Given the description of an element on the screen output the (x, y) to click on. 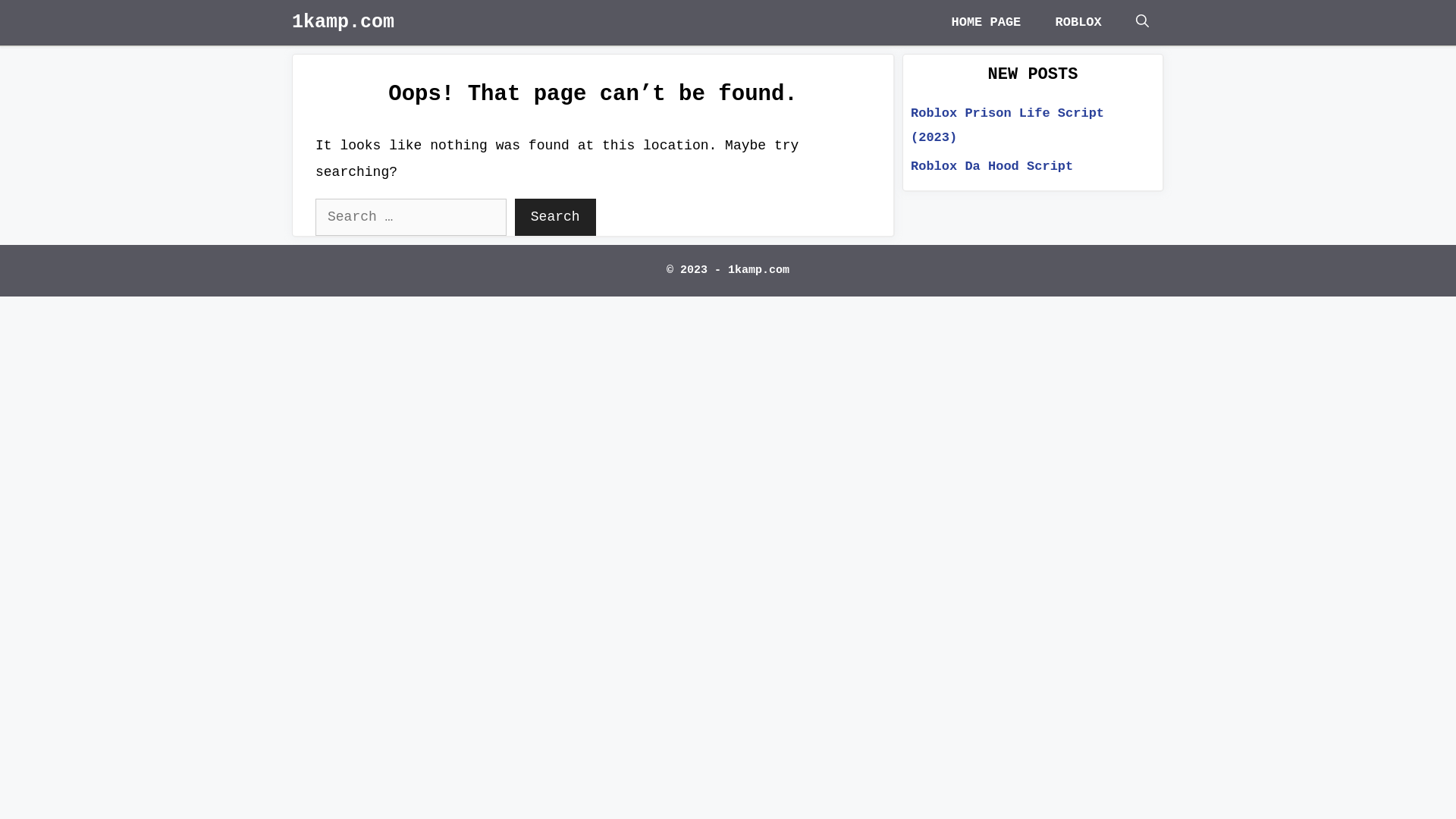
Search for: Element type: hover (410, 216)
1kamp.com Element type: text (342, 22)
Roblox Prison Life Script (2023) Element type: text (1007, 125)
Roblox Da Hood Script Element type: text (991, 166)
HOME PAGE Element type: text (985, 22)
Search Element type: text (555, 216)
ROBLOX Element type: text (1078, 22)
